Given the description of an element on the screen output the (x, y) to click on. 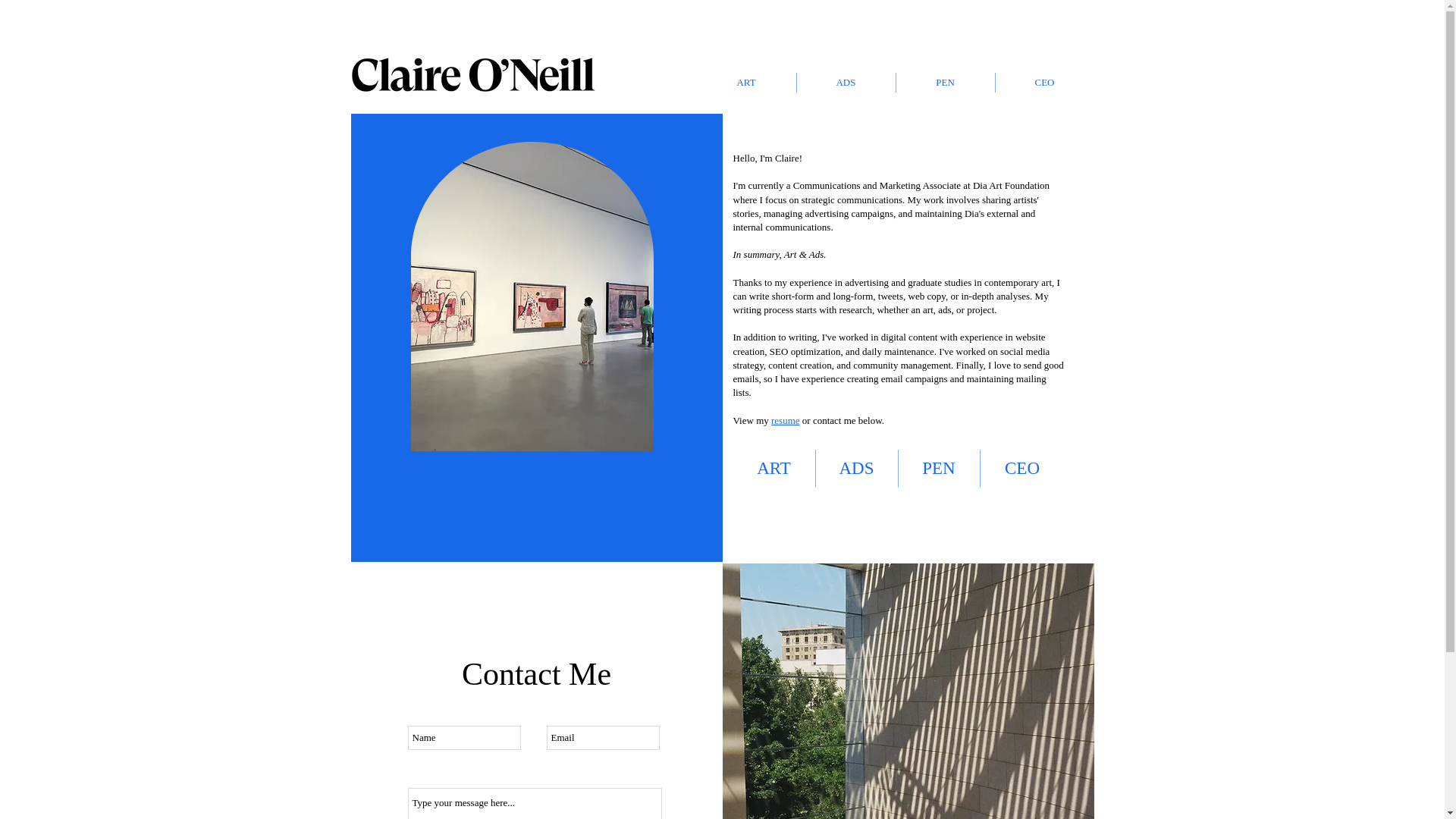
CEO (1021, 468)
CEO (1043, 82)
PEN (945, 82)
resume (785, 419)
ADS (845, 82)
ADS (856, 468)
ART (772, 468)
ART (744, 82)
PEN (938, 468)
